Given the description of an element on the screen output the (x, y) to click on. 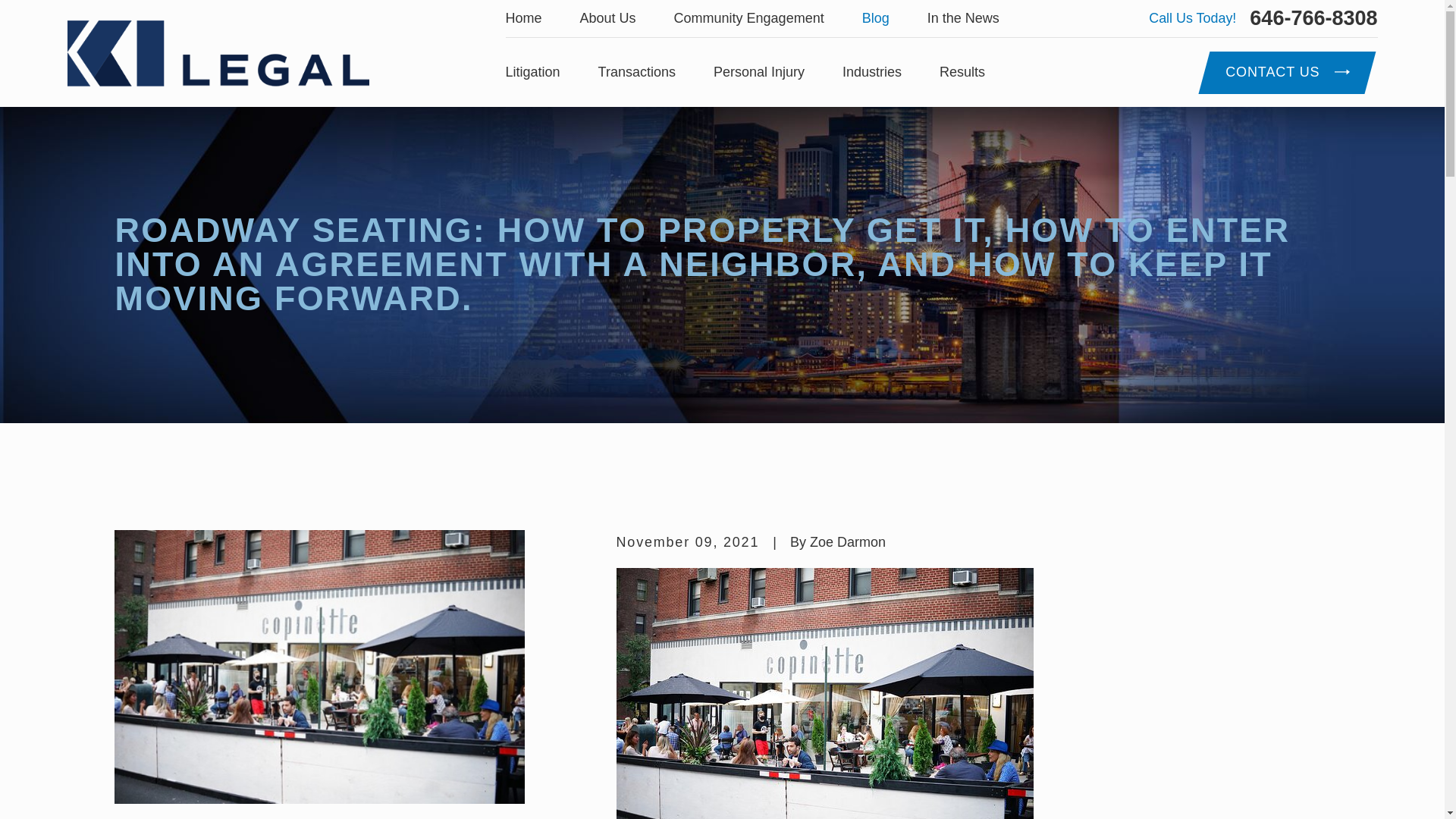
Transactions (636, 72)
Litigation (532, 72)
Industries (872, 72)
646-766-8308 (1313, 18)
About Us (607, 17)
Personal Injury (759, 72)
Blog (875, 17)
Home (217, 52)
Results (962, 72)
KI Legal (217, 53)
